Given the description of an element on the screen output the (x, y) to click on. 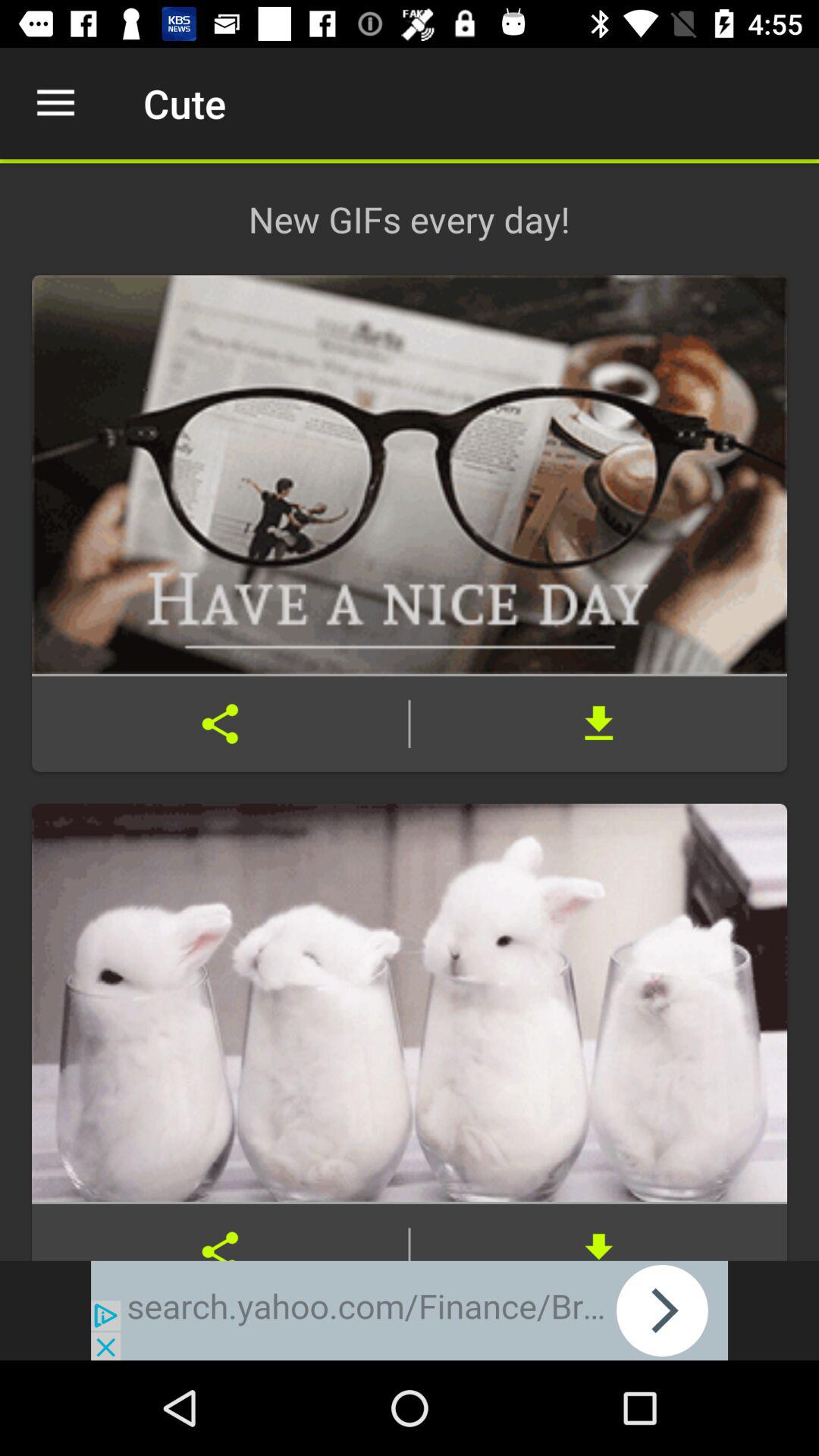
share the article (219, 723)
